Given the description of an element on the screen output the (x, y) to click on. 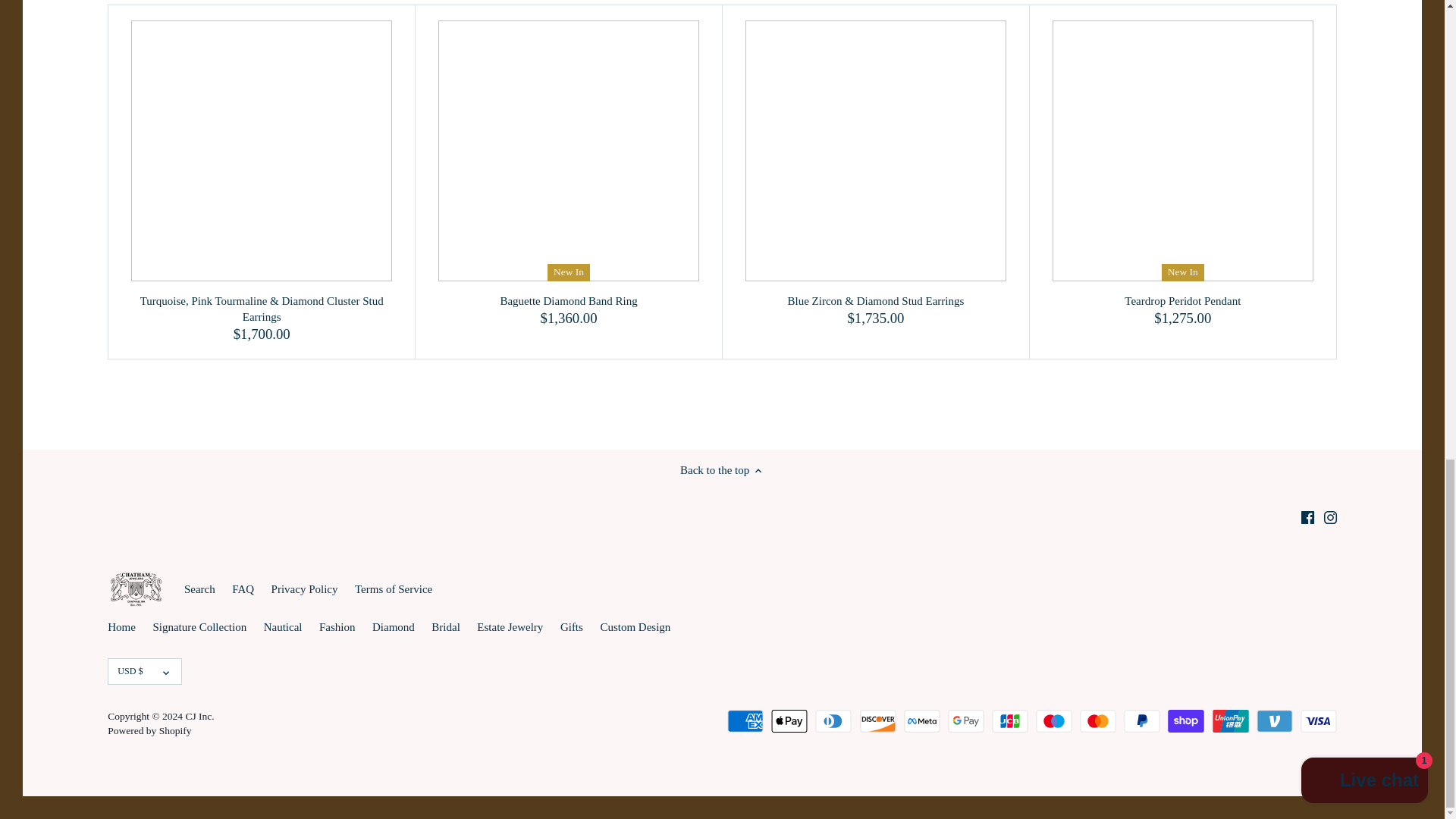
Facebook (1307, 517)
Instagram (1329, 517)
